Given the description of an element on the screen output the (x, y) to click on. 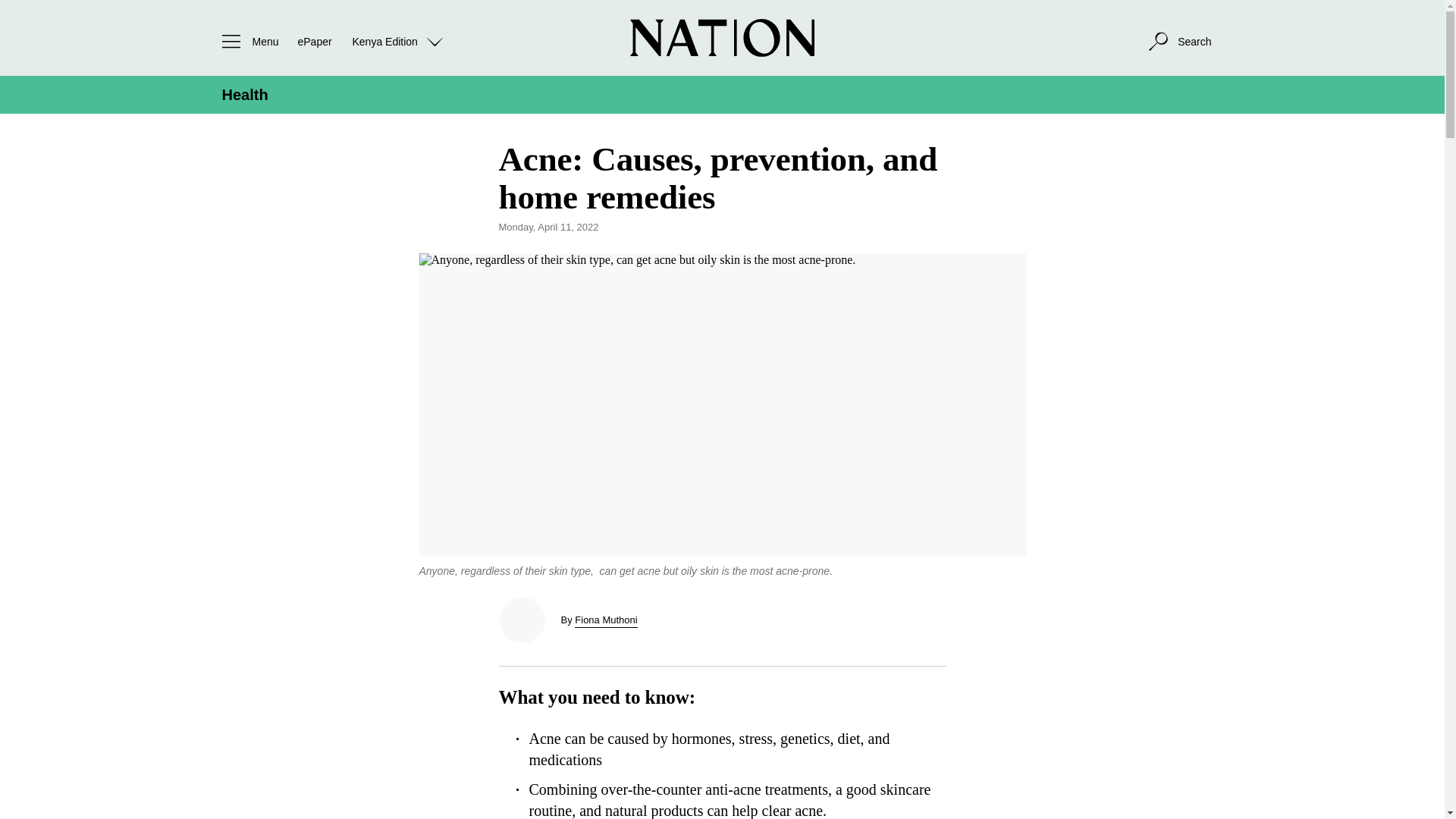
Search (1178, 41)
ePaper (314, 41)
Menu (246, 41)
Health (244, 94)
Kenya Edition (398, 41)
